Given the description of an element on the screen output the (x, y) to click on. 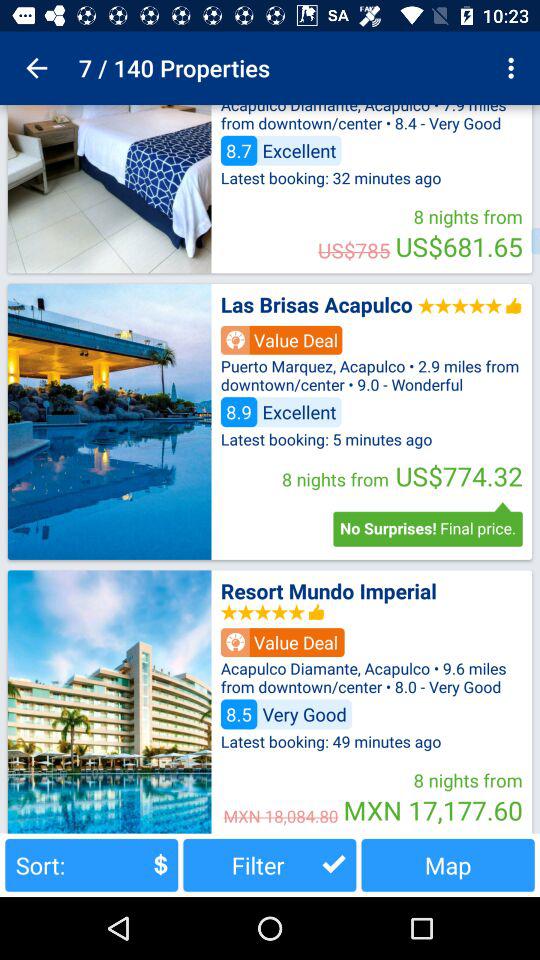
view listing (109, 421)
